Given the description of an element on the screen output the (x, y) to click on. 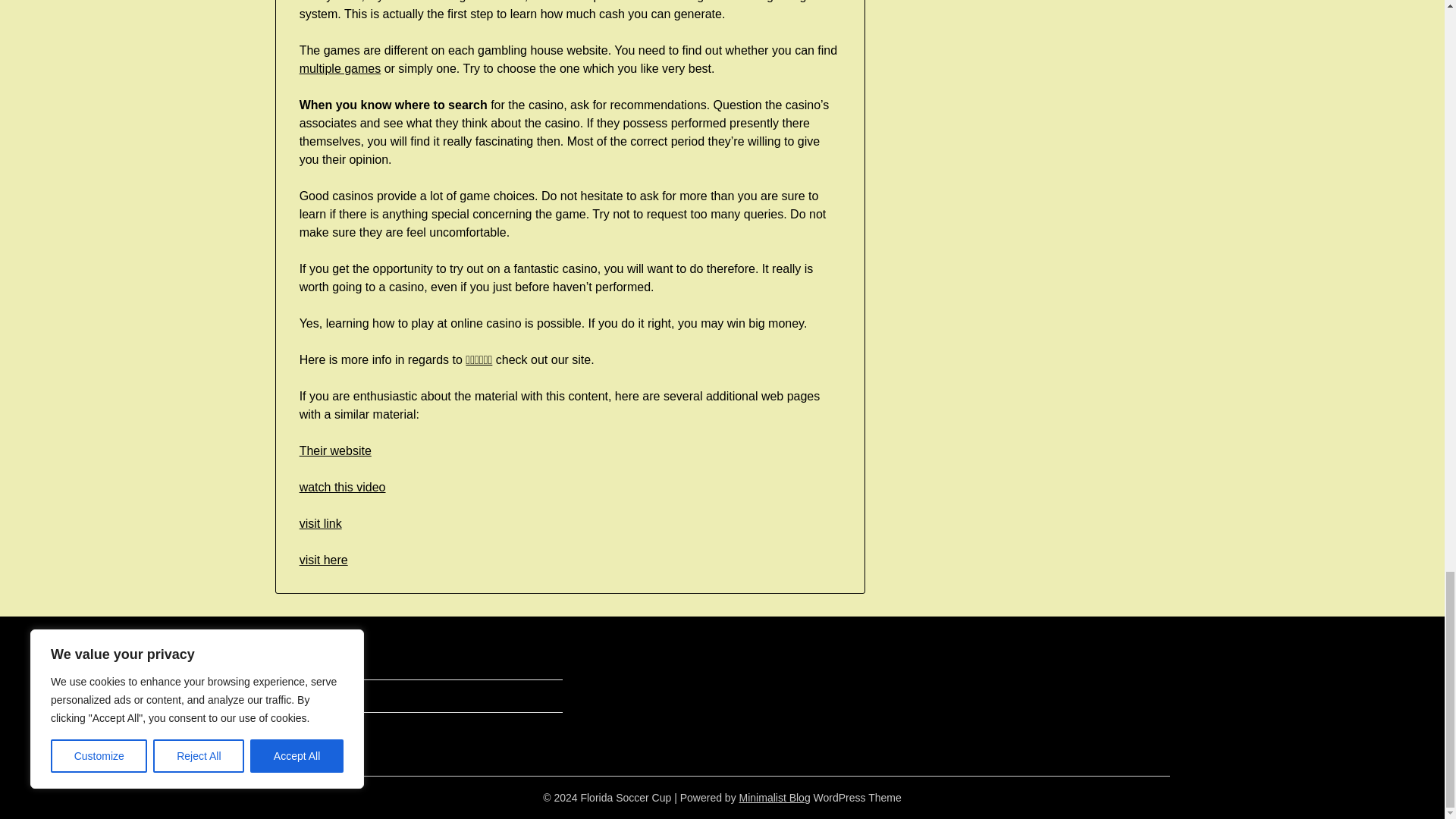
visit here (323, 559)
visit link (320, 522)
Their website (335, 450)
multiple games (340, 68)
watch this video (342, 486)
